Given the description of an element on the screen output the (x, y) to click on. 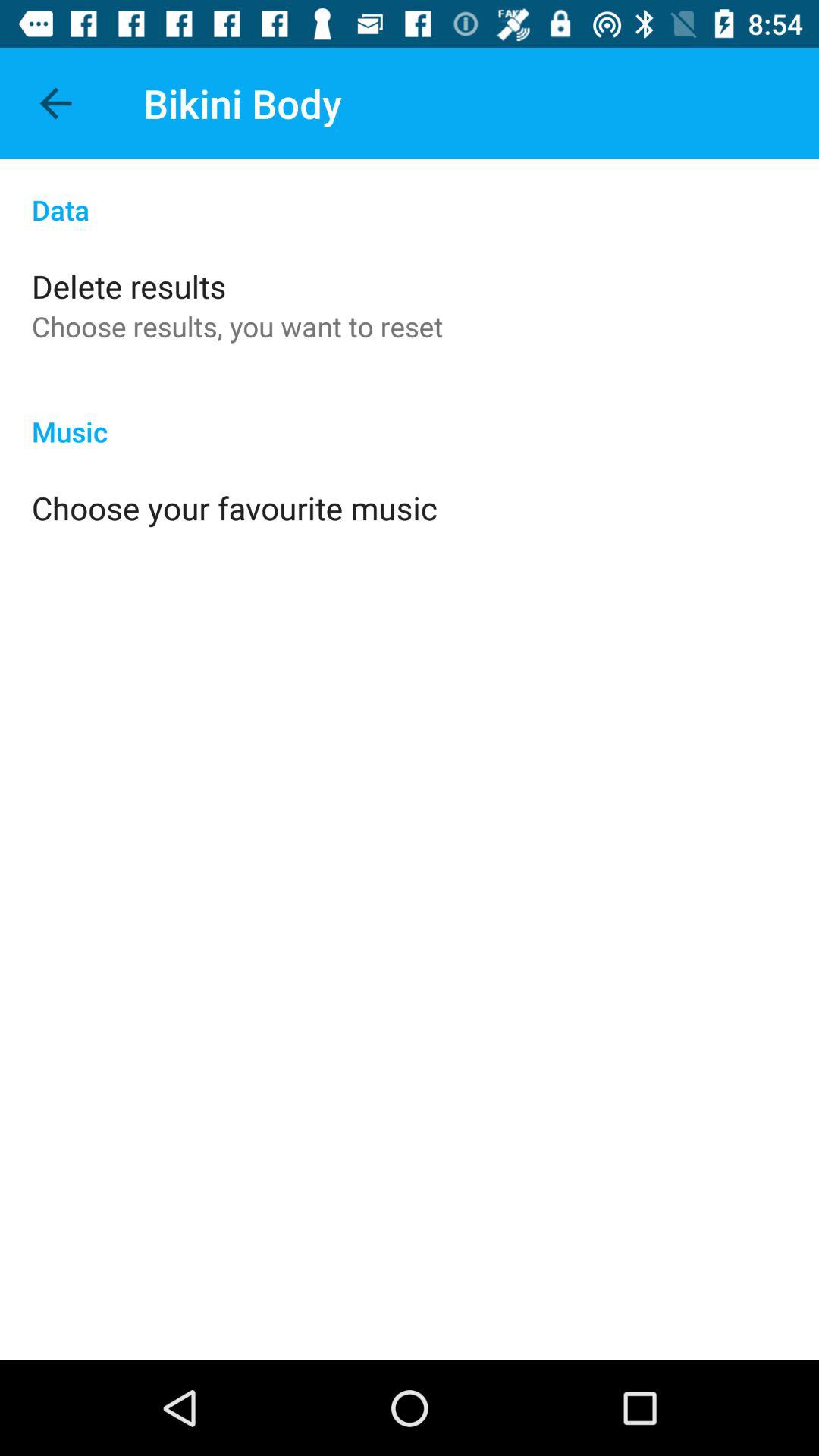
turn on item above the delete results app (409, 193)
